Given the description of an element on the screen output the (x, y) to click on. 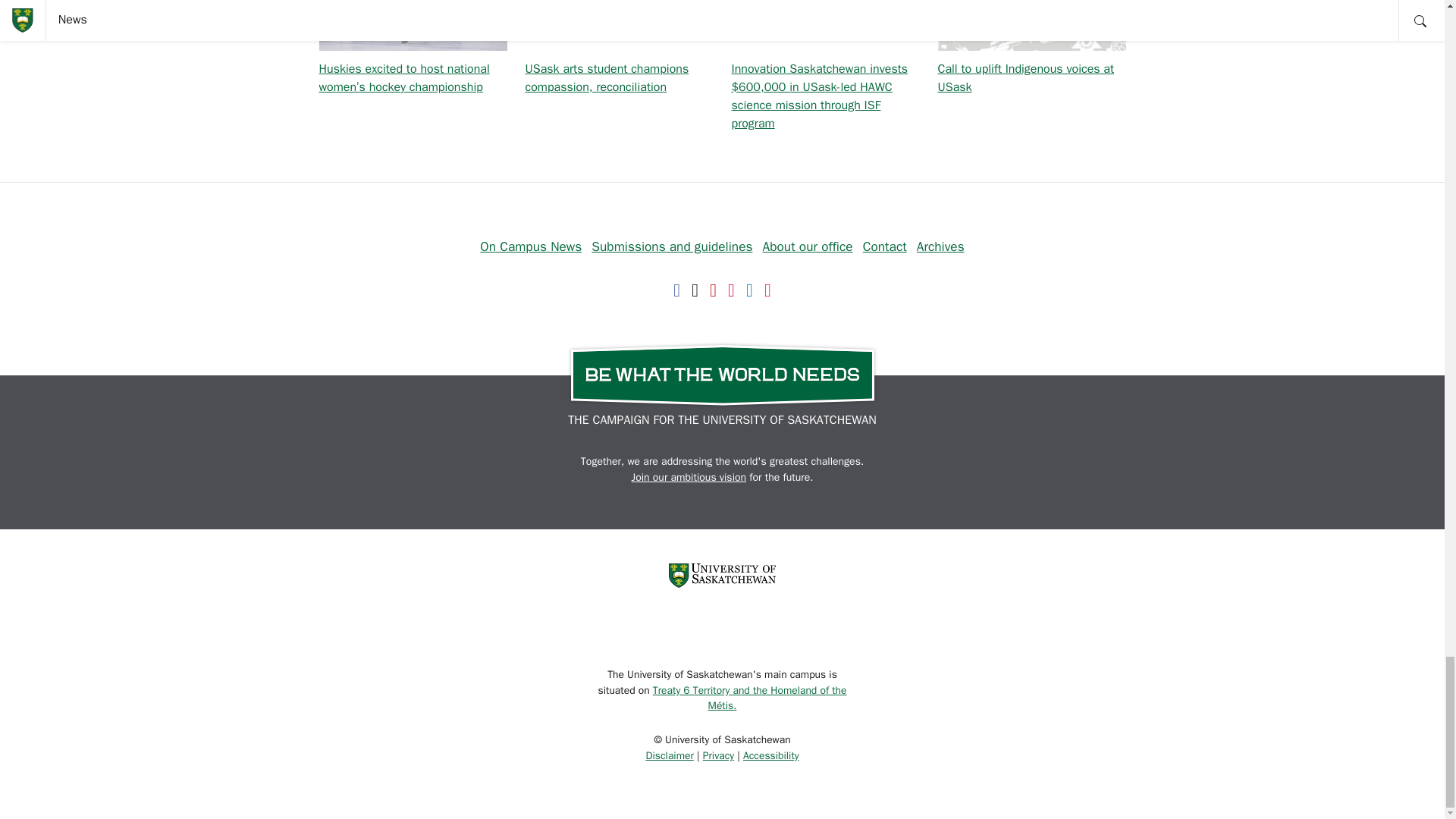
USask arts student champions compassion, reconciliation (606, 78)
Accessibility (770, 755)
Disclaimer (669, 755)
On Campus News (530, 246)
Privacy (718, 755)
Call to uplift Indigenous voices at USask (1025, 78)
About our office (807, 246)
Submissions and guidelines (671, 246)
Archives (940, 246)
Join our ambitious vision (688, 477)
Contact (885, 246)
